Given the description of an element on the screen output the (x, y) to click on. 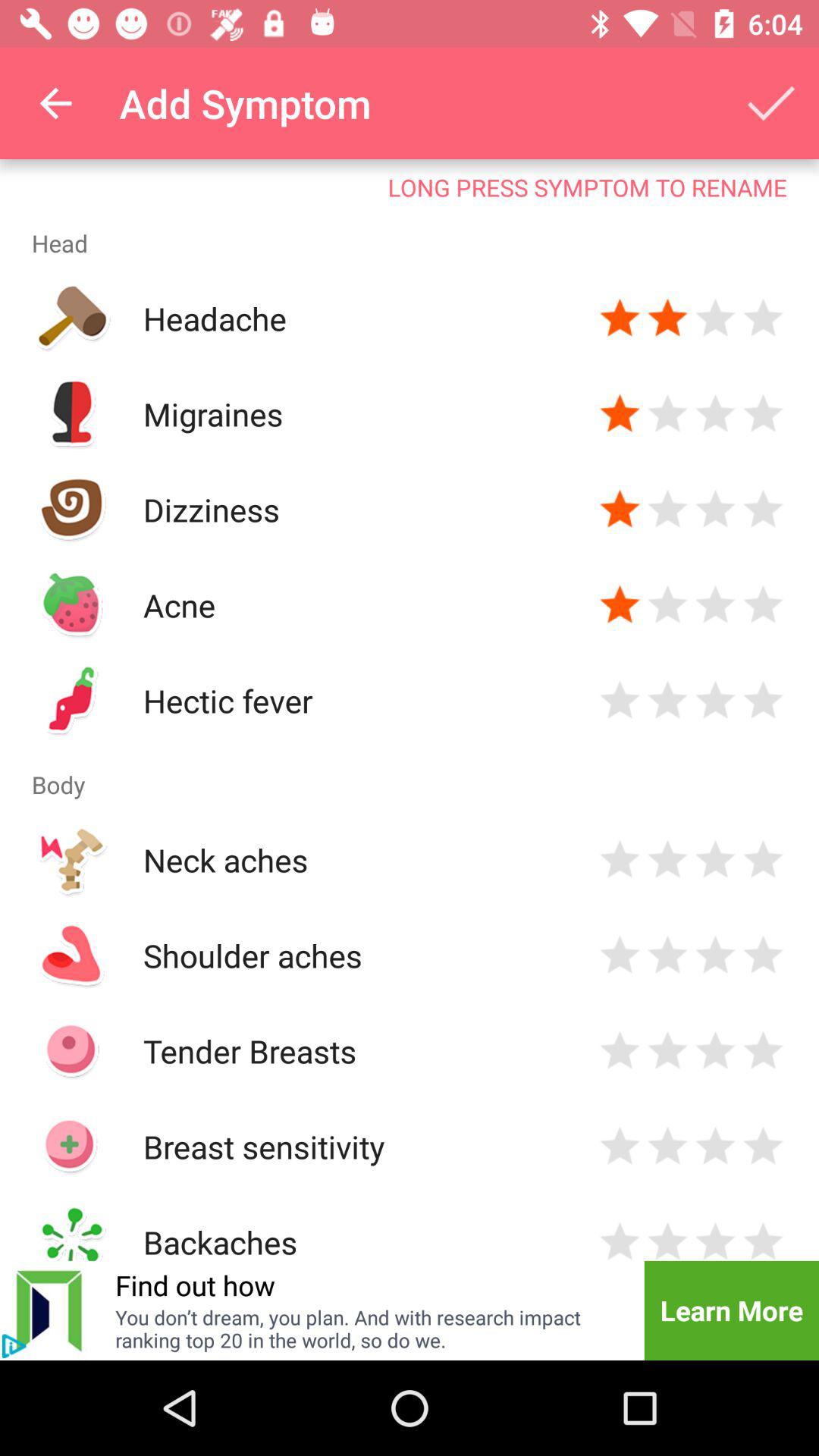
select four stars (763, 413)
